Given the description of an element on the screen output the (x, y) to click on. 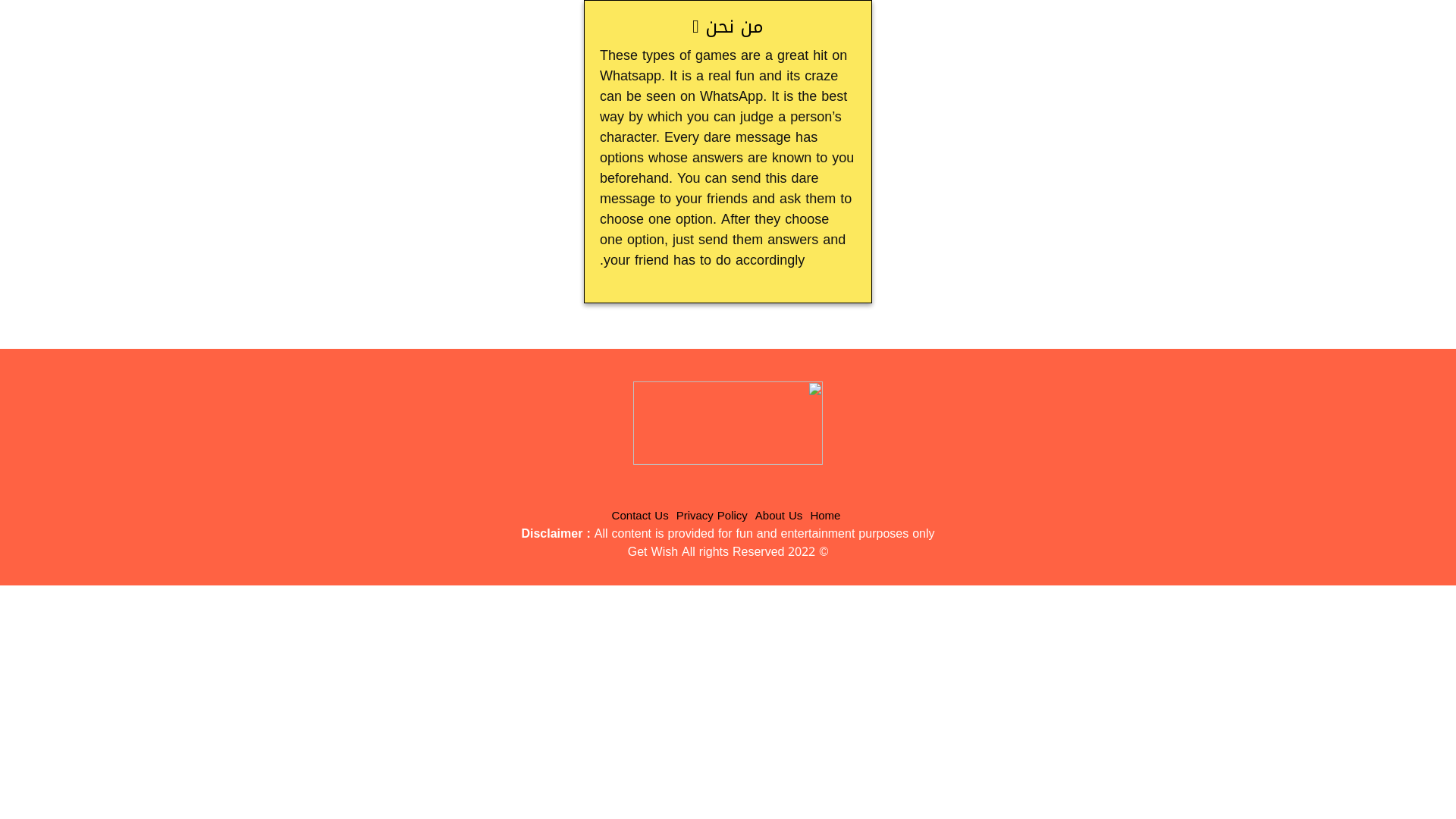
Privacy Policy Element type: text (711, 515)
Contact Us Element type: text (639, 515)
About Us Element type: text (779, 515)
Home Element type: text (824, 515)
